Given the description of an element on the screen output the (x, y) to click on. 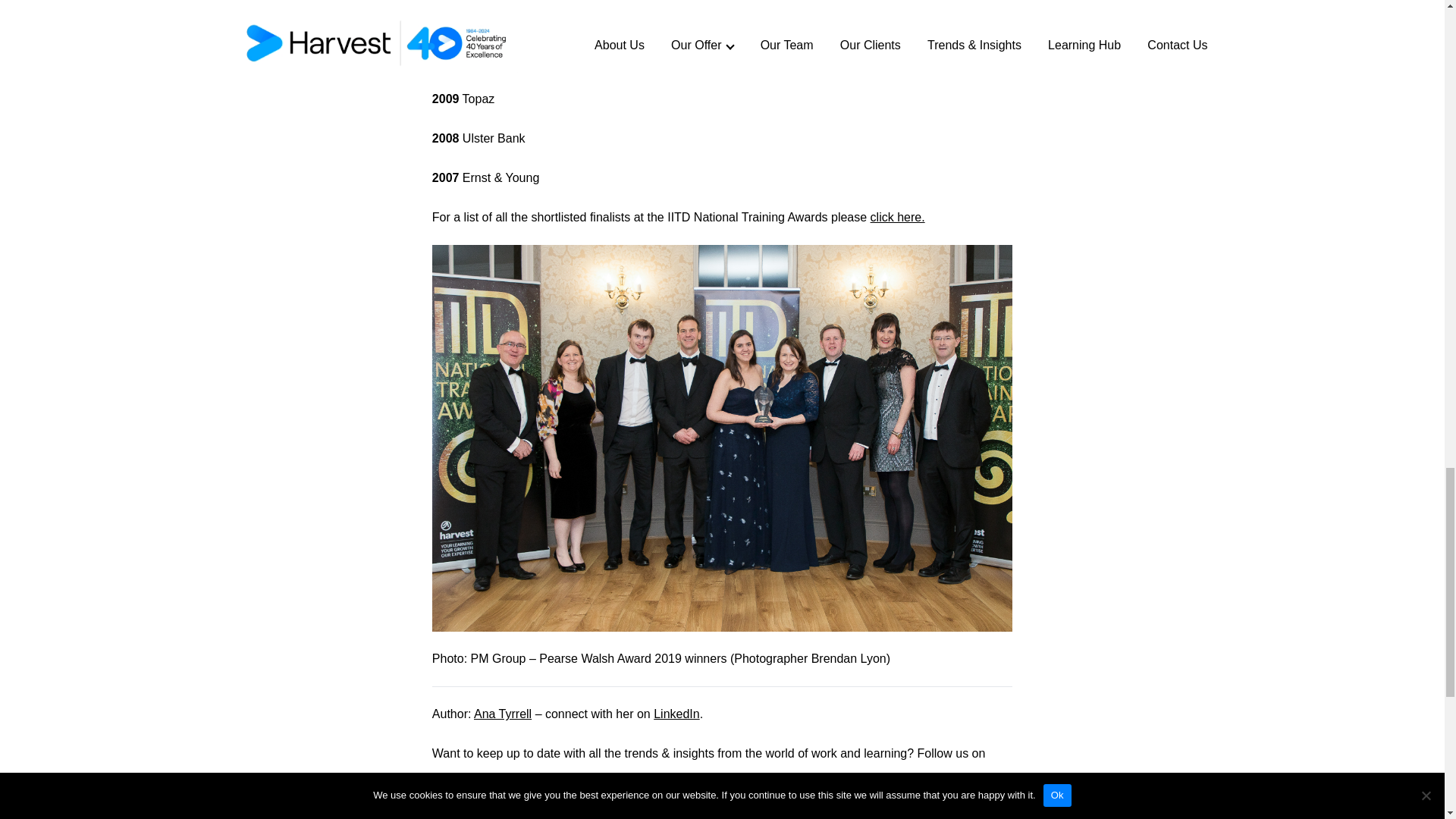
LinkedIn (676, 713)
Ana Tyrrell (502, 713)
click here. (897, 216)
